Given the description of an element on the screen output the (x, y) to click on. 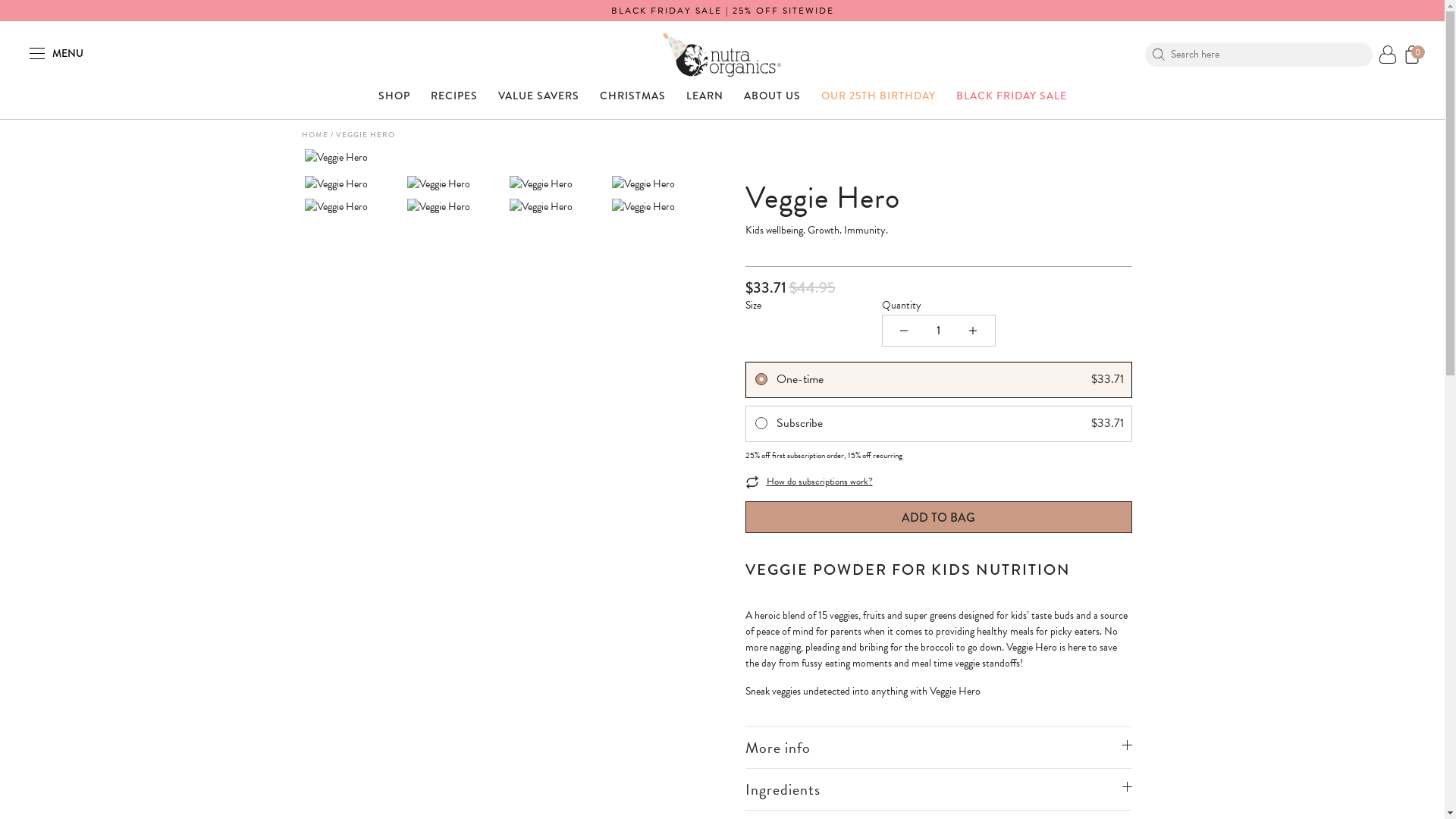
CHRISTMAS Element type: text (632, 103)
+ Element type: text (971, 330)
RECIPES Element type: text (453, 103)
ABOUT US Element type: text (771, 103)
BLACK FRIDAY SALE Element type: text (1010, 103)
VALUE SAVERS Element type: text (537, 103)
MENU Element type: text (56, 54)
LEARN Element type: text (703, 103)
- Element type: text (903, 330)
SHOP Element type: text (393, 103)
BLACK FRIDAY SALE | 25% OFF SITEWIDE Element type: text (722, 10)
ADD TO BAG Element type: text (937, 517)
OUR 25TH BIRTHDAY Element type: text (877, 103)
HOME Element type: text (314, 134)
